Given the description of an element on the screen output the (x, y) to click on. 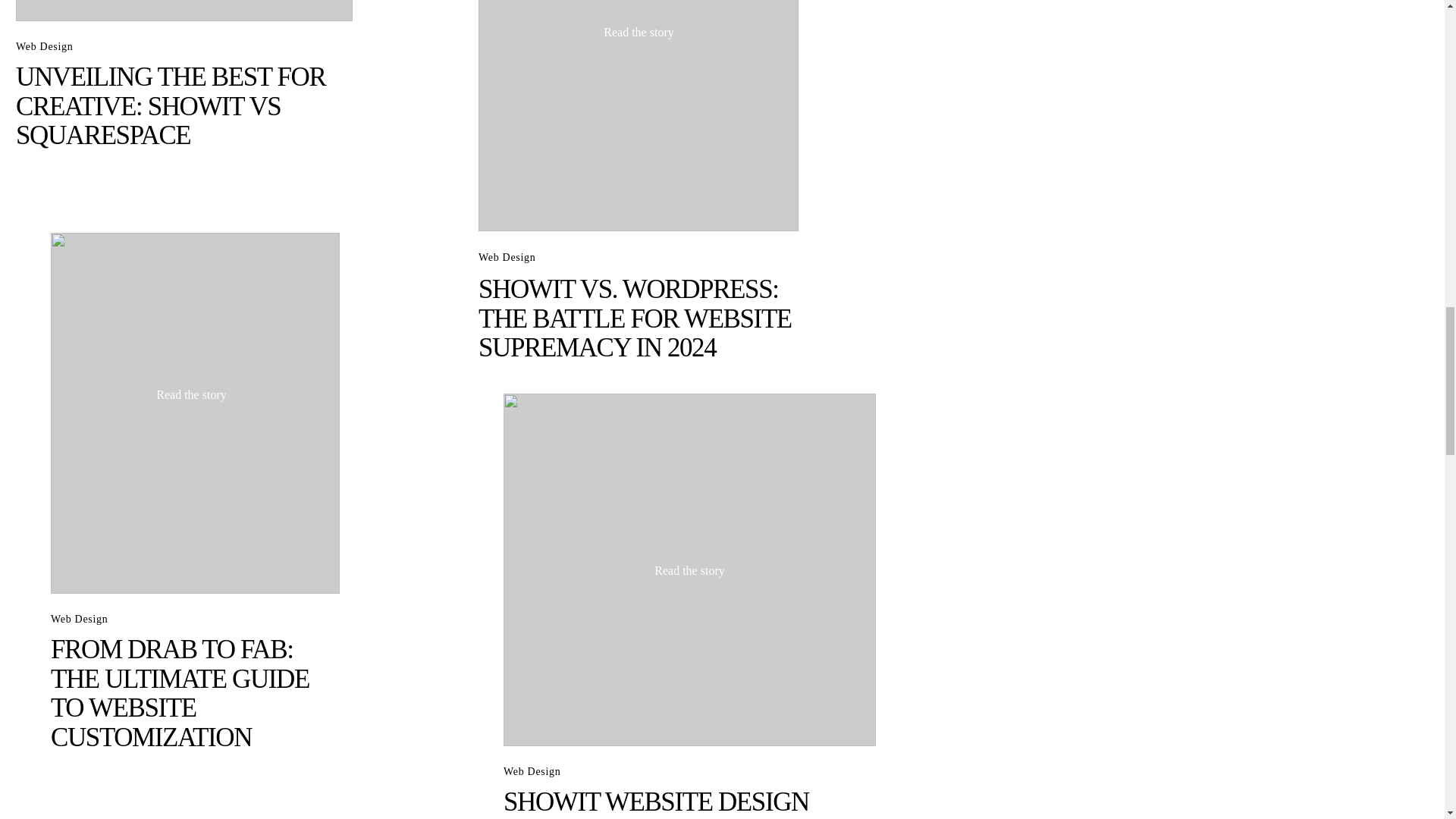
UNVEILING THE BEST FOR CREATIVE: SHOWIT VS SQUARESPACE (170, 105)
Web Design (507, 256)
Unveiling the Best for Creative: Showit vs Squarespace (184, 10)
Web Design (531, 771)
Read the story (191, 394)
Web Design (78, 618)
Web Design (44, 46)
Read the story (638, 31)
